Given the description of an element on the screen output the (x, y) to click on. 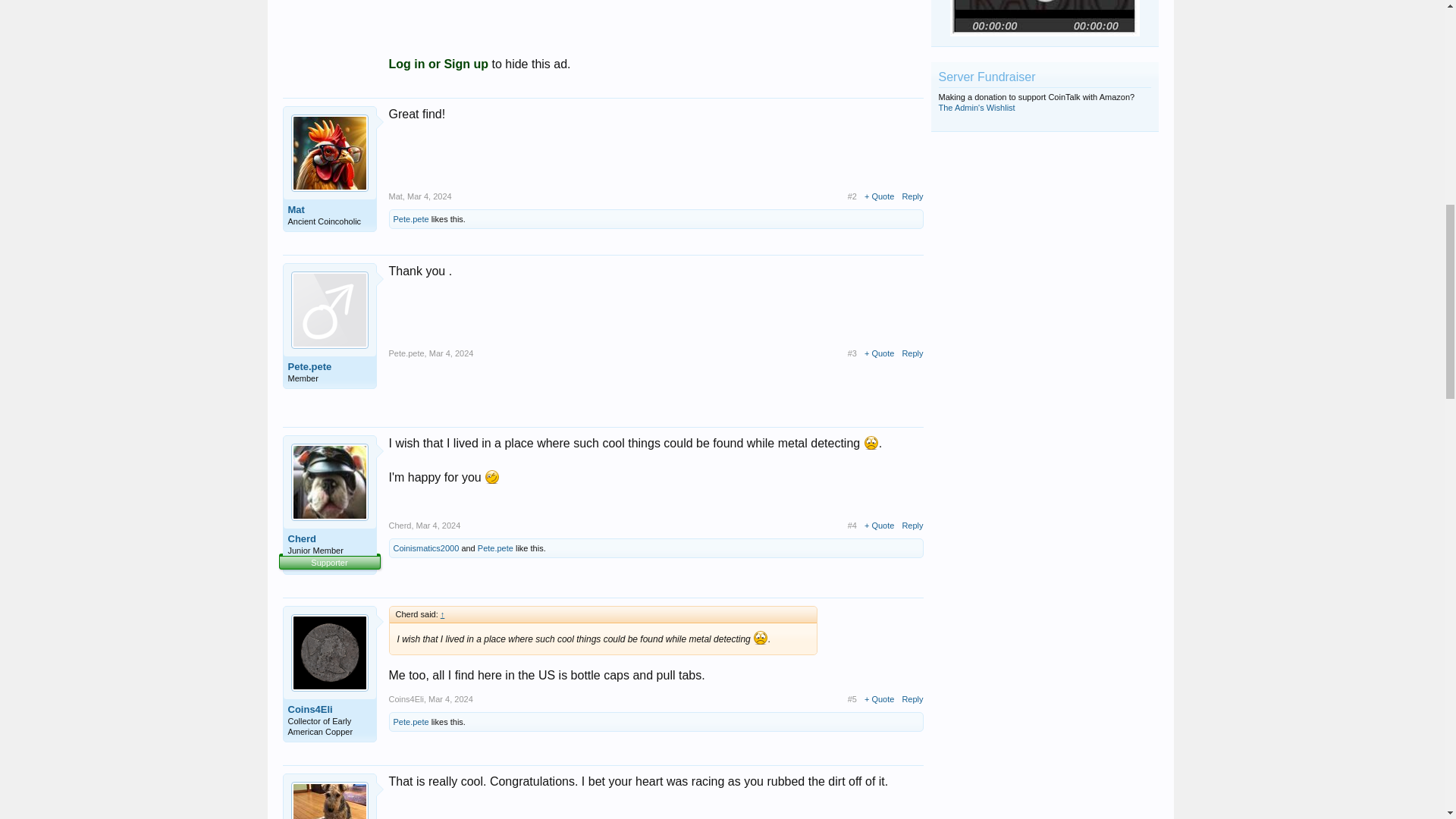
Permalink (451, 352)
Mat (394, 195)
Log in or Sign up (439, 63)
Reply, quoting this message (912, 195)
Permalink (429, 195)
Advertisement (655, 11)
Mar 4, 2024 (451, 352)
Mat (329, 209)
Pete.pete (405, 352)
Mar 4, 2024 (429, 195)
Pete.pete (410, 218)
Toggle Multi-Quote (878, 195)
Reply (912, 195)
Pete.pete (329, 367)
